Given the description of an element on the screen output the (x, y) to click on. 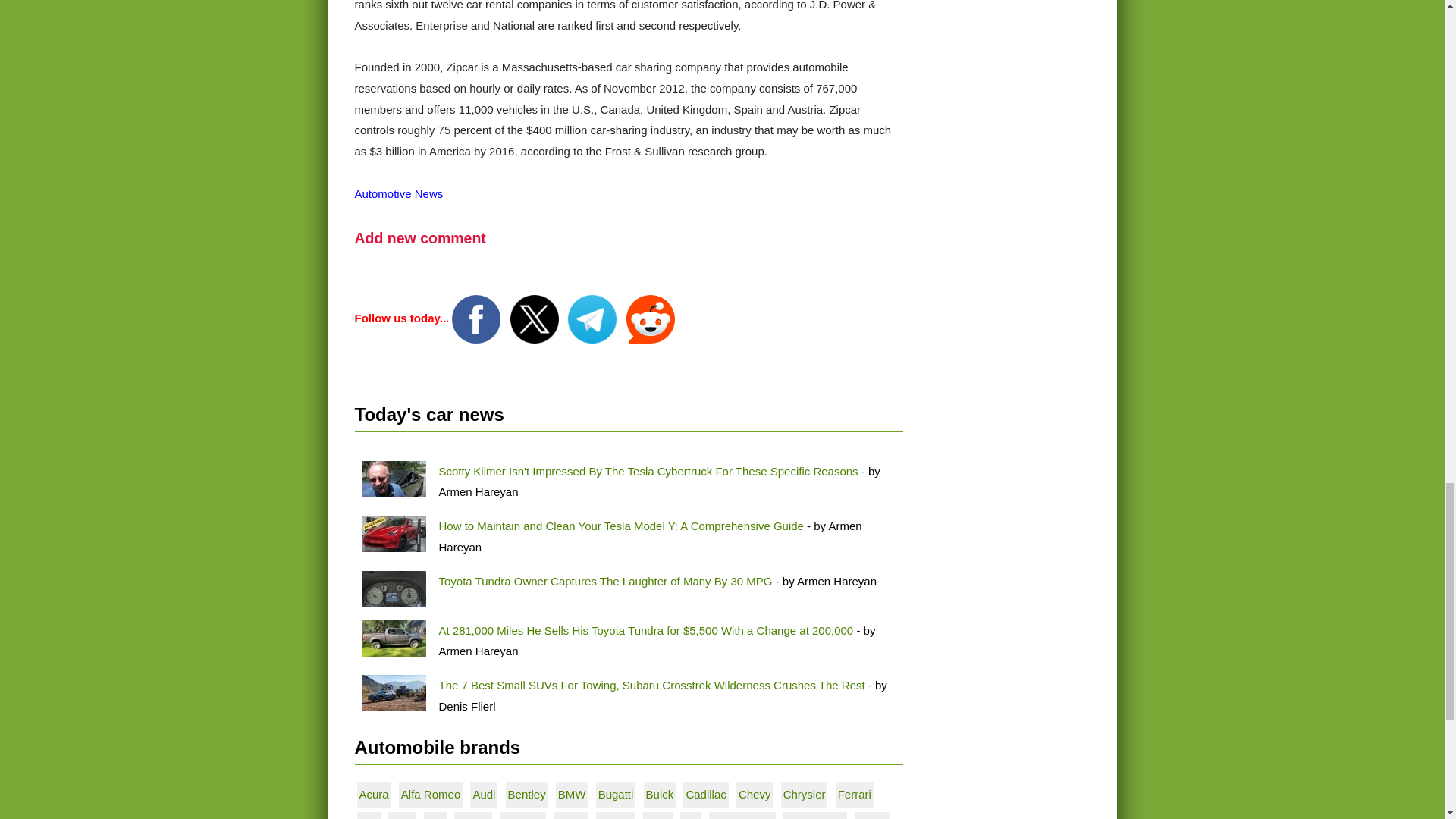
Acura (373, 793)
2024 Subaru Outback Wilderness towing a trailer (393, 692)
Audi (483, 793)
Alfa Romeo (430, 793)
Join us on Reddit! (650, 318)
Bugatti (615, 793)
